Given the description of an element on the screen output the (x, y) to click on. 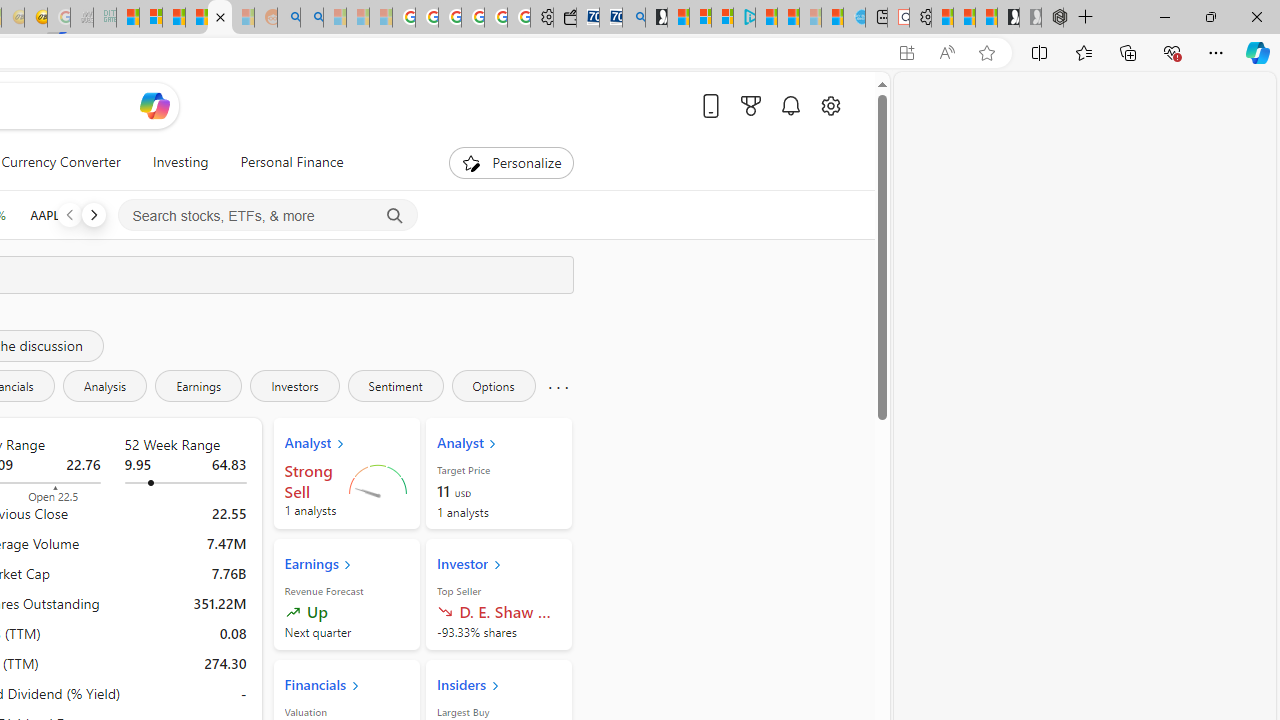
Bing Real Estate - Home sales and rental listings (634, 17)
Utah sues federal government - Search (311, 17)
Class: card_head_icon_lightMode-DS-EntryPoint1-1 (494, 685)
Analysis (104, 385)
